Given the description of an element on the screen output the (x, y) to click on. 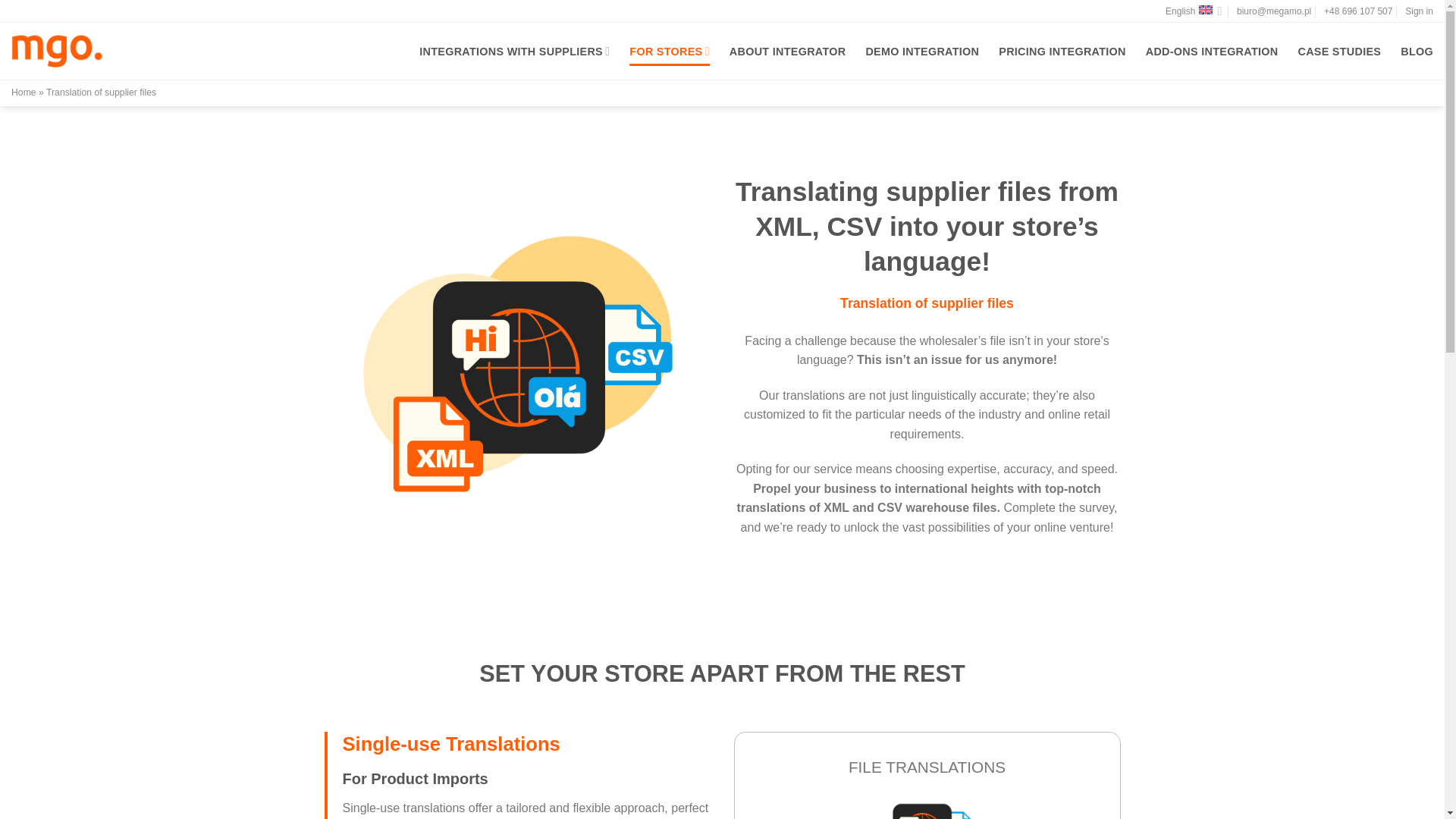
megamo.eu - megamo.eu (56, 50)
English (1193, 11)
INTEGRATIONS WITH SUPPLIERS (514, 51)
FOR STORES (669, 51)
Sign in (1418, 11)
ABOUT INTEGRATOR (787, 51)
